Given the description of an element on the screen output the (x, y) to click on. 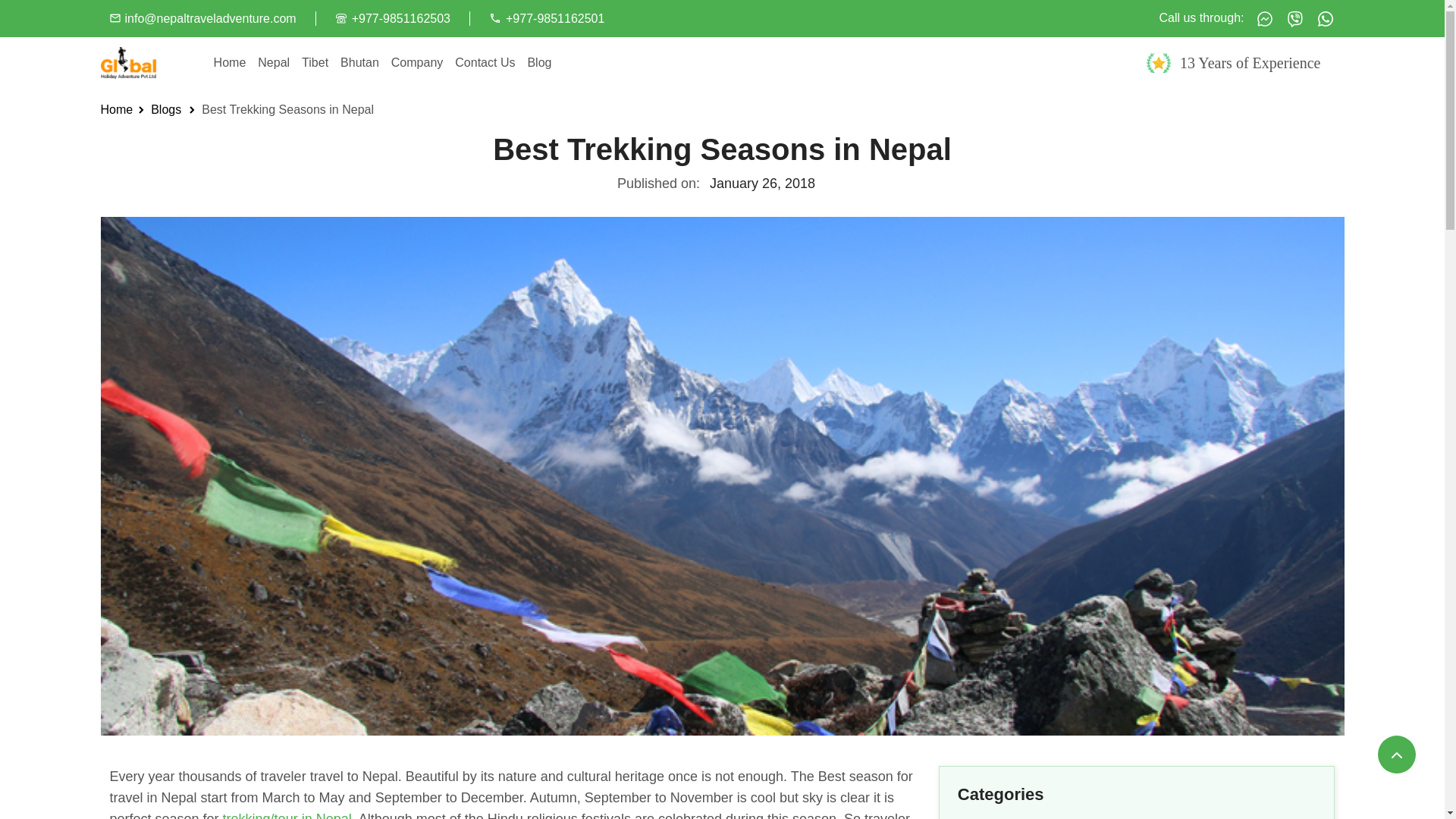
Blogs (165, 109)
Blog (539, 62)
Tibet (314, 62)
Nepal (273, 62)
Contact Us (484, 62)
Home (116, 109)
Home (229, 62)
Bhutan (359, 62)
Company (416, 62)
